Given the description of an element on the screen output the (x, y) to click on. 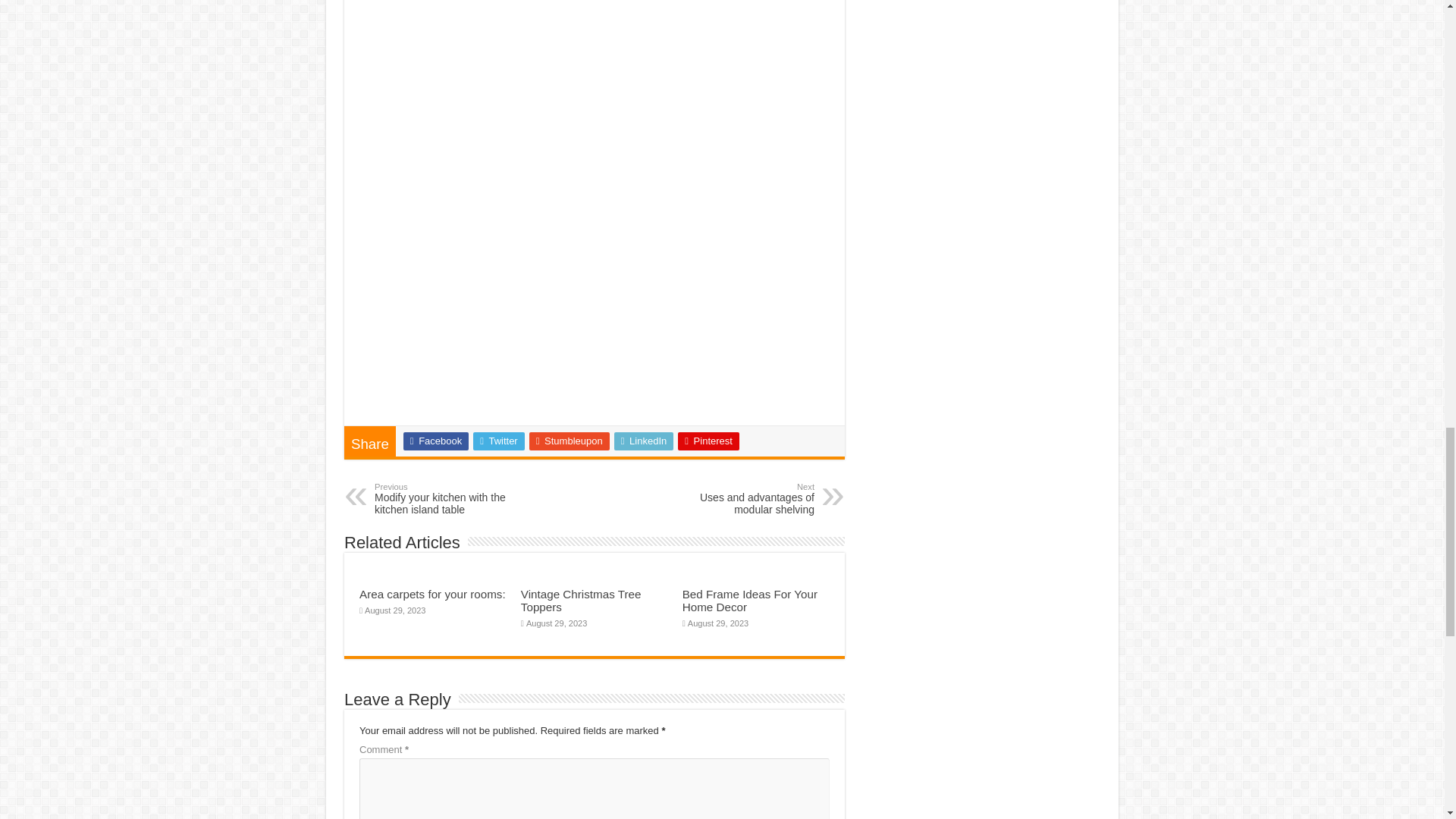
Twitter (736, 498)
Facebook (498, 441)
LinkedIn (451, 498)
Stumbleupon (435, 441)
Area carpets for your rooms: (644, 441)
Pinterest (569, 441)
